Given the description of an element on the screen output the (x, y) to click on. 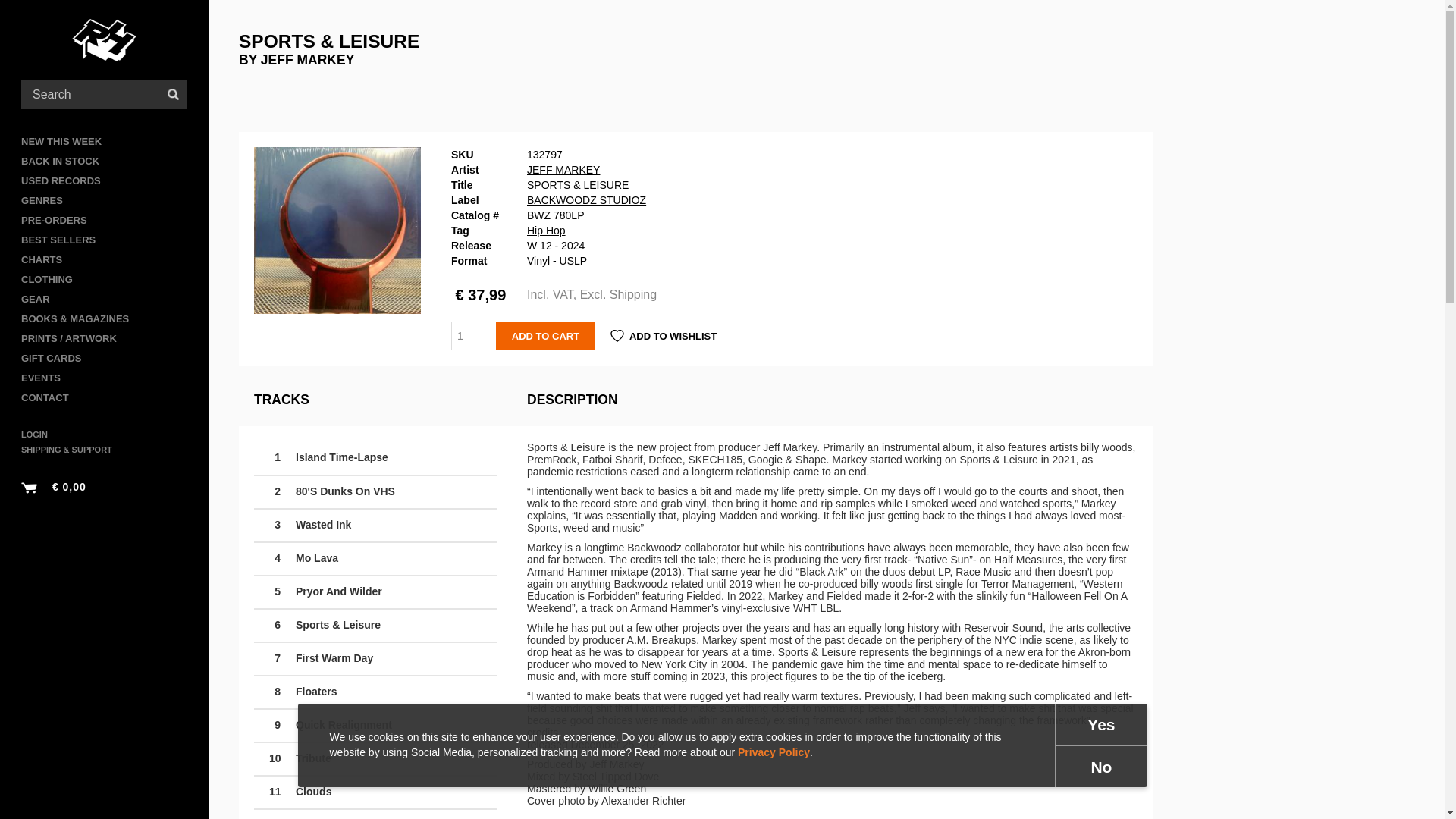
GENRES (104, 200)
PRE-ORDERS (104, 220)
SEARCH (173, 93)
Return to the Rush Hour home page (103, 39)
CONTACT (104, 397)
GIFT CARDS (104, 358)
EVENTS (104, 378)
GEAR (104, 299)
BACKWOODZ STUDIOZ (586, 200)
1 (469, 335)
BACK IN STOCK (104, 161)
CHARTS (104, 260)
Hip Hop (546, 230)
CLOTHING (104, 279)
ADD TO CART (545, 335)
